Given the description of an element on the screen output the (x, y) to click on. 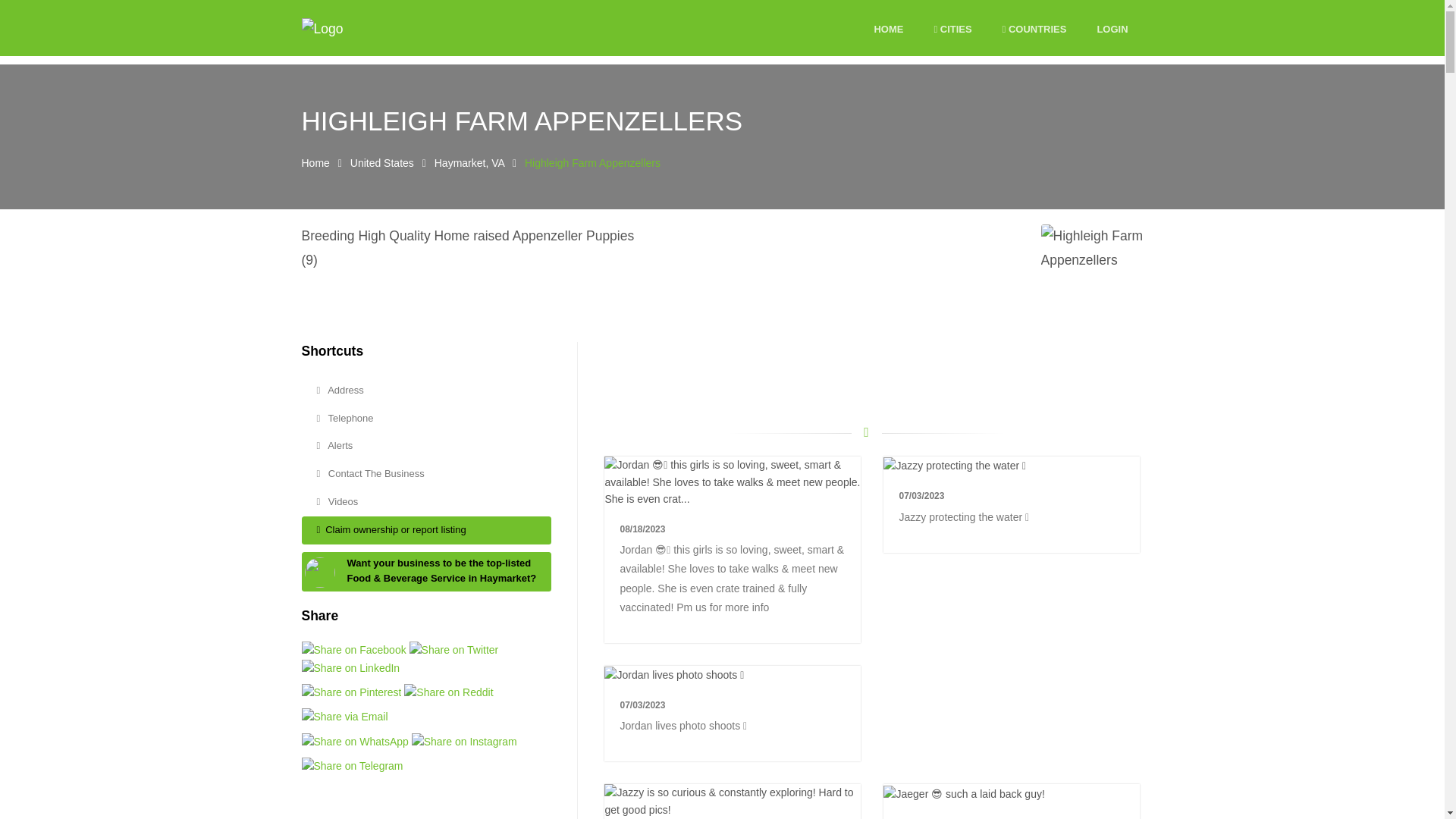
HOME (887, 29)
Videos (426, 502)
CITIES (952, 29)
Telephone (426, 418)
Alerts (426, 446)
Claim ownership or report listing (426, 530)
Address (426, 390)
United States (381, 162)
Haymarket, VA (468, 162)
Contact The Business (426, 474)
